Given the description of an element on the screen output the (x, y) to click on. 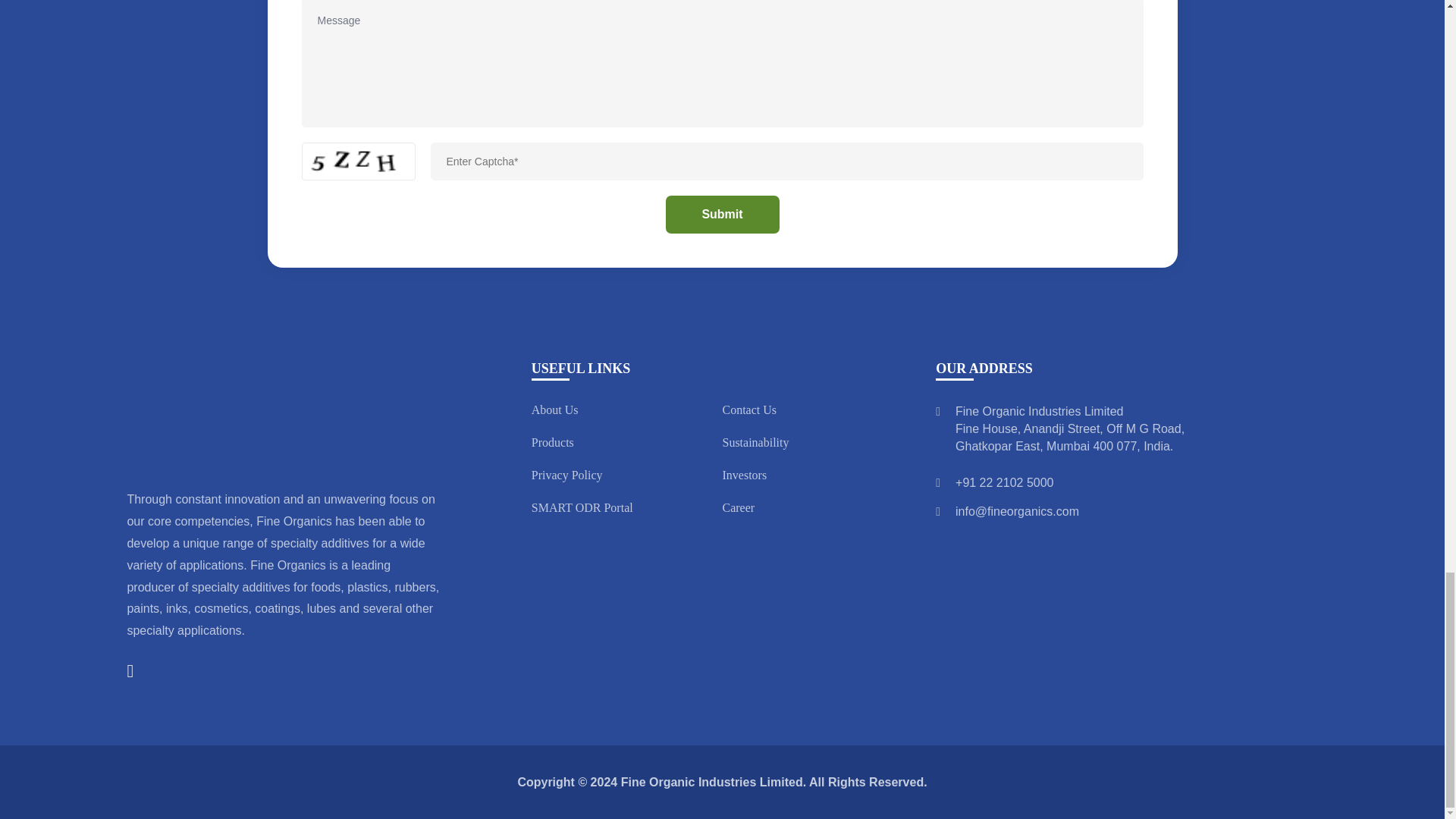
Submit (721, 214)
Sustainability (755, 441)
Privacy Policy (566, 474)
SMART ODR Portal (582, 507)
About Us (554, 409)
Investors (744, 474)
Contact Us (749, 409)
Career (738, 507)
Submit (721, 214)
Products (552, 441)
